Given the description of an element on the screen output the (x, y) to click on. 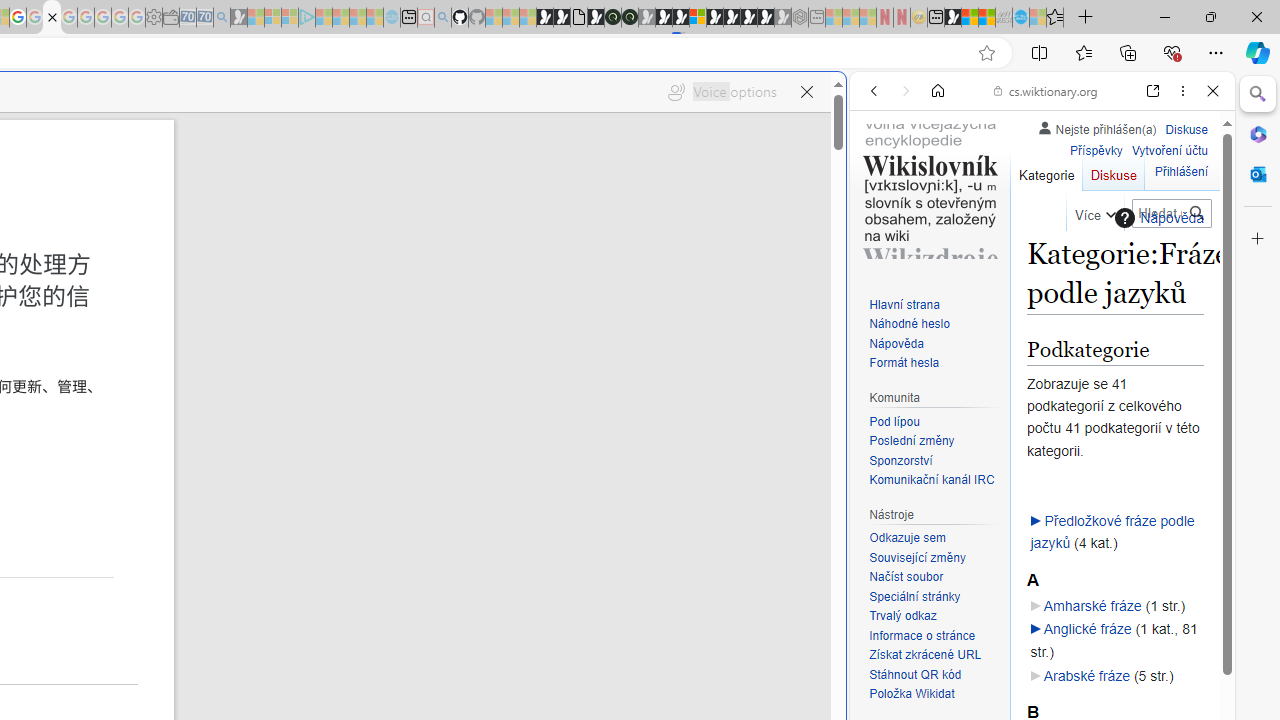
Search Filter, Search Tools (1093, 228)
Class: b_serphb (1190, 229)
